Given the description of an element on the screen output the (x, y) to click on. 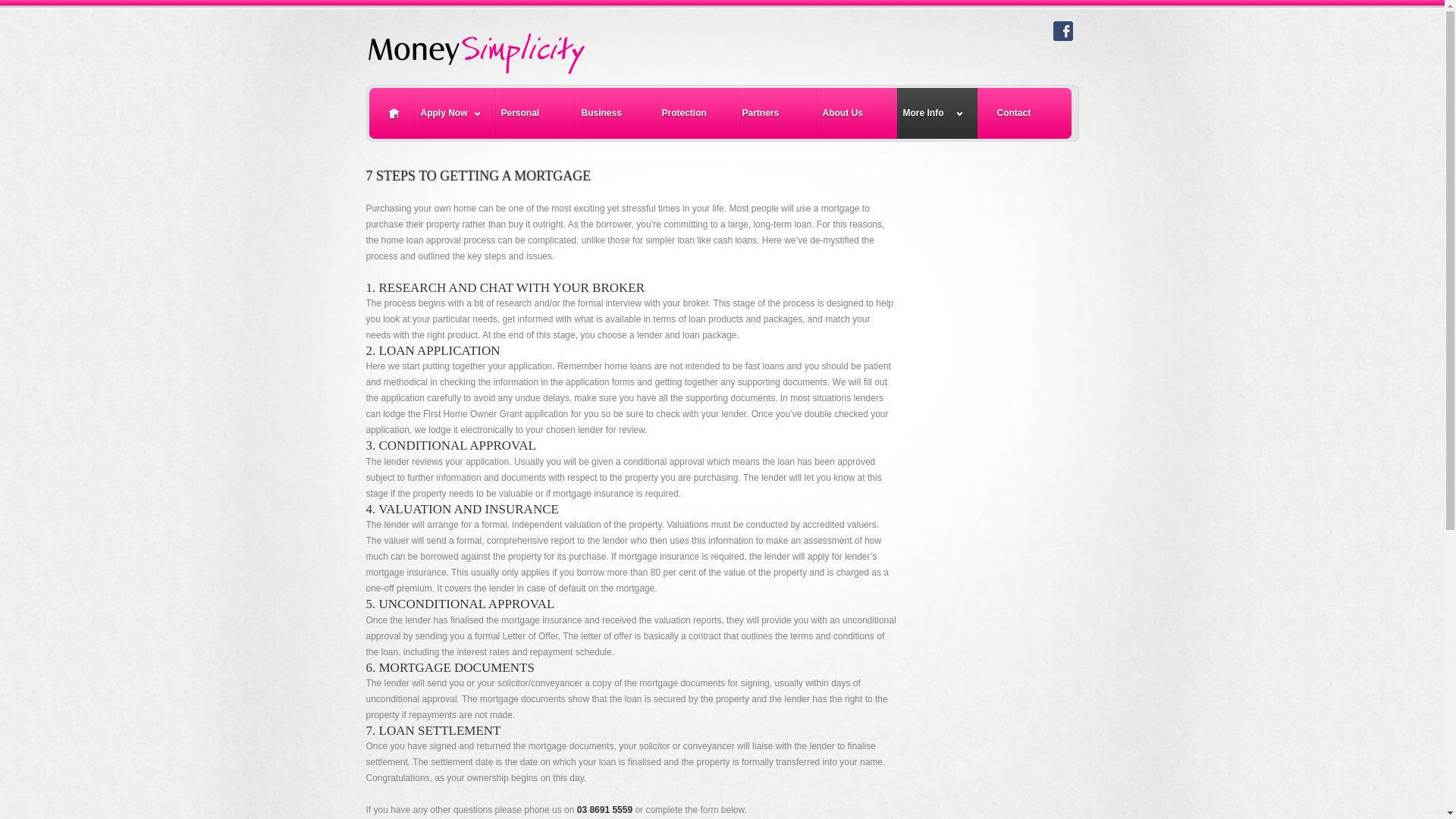
About Us Element type: text (856, 112)
Protection Element type: text (695, 112)
Contact Element type: text (1024, 112)
MONEY SIMPLICITY Element type: text (509, 48)
Business Element type: text (615, 112)
Apply Now Element type: text (454, 112)
Partners Element type: text (776, 112)
Personal Element type: text (534, 112)
More Info Element type: text (936, 112)
